Given the description of an element on the screen output the (x, y) to click on. 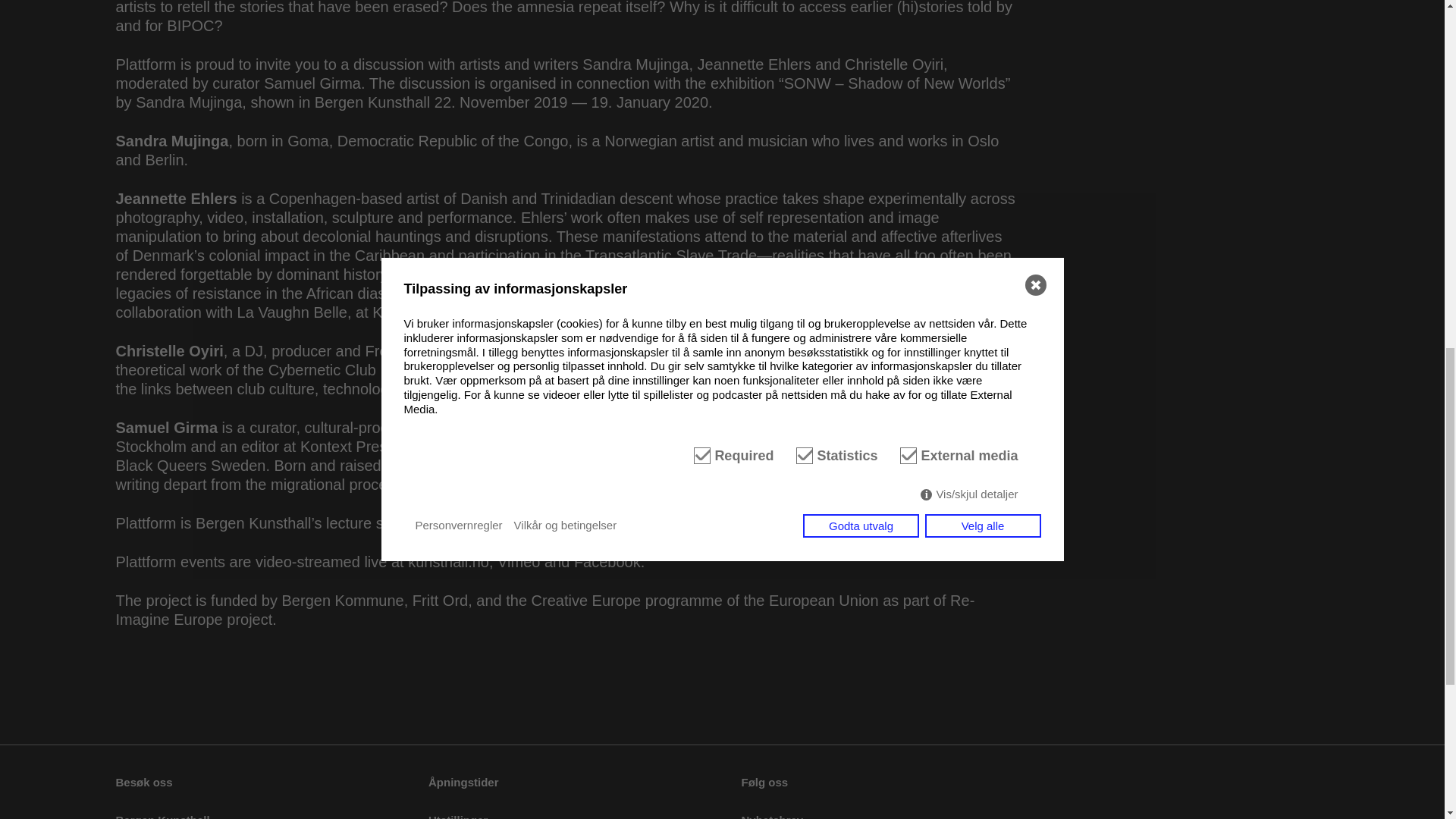
Nyhetsbrev (772, 816)
